Given the description of an element on the screen output the (x, y) to click on. 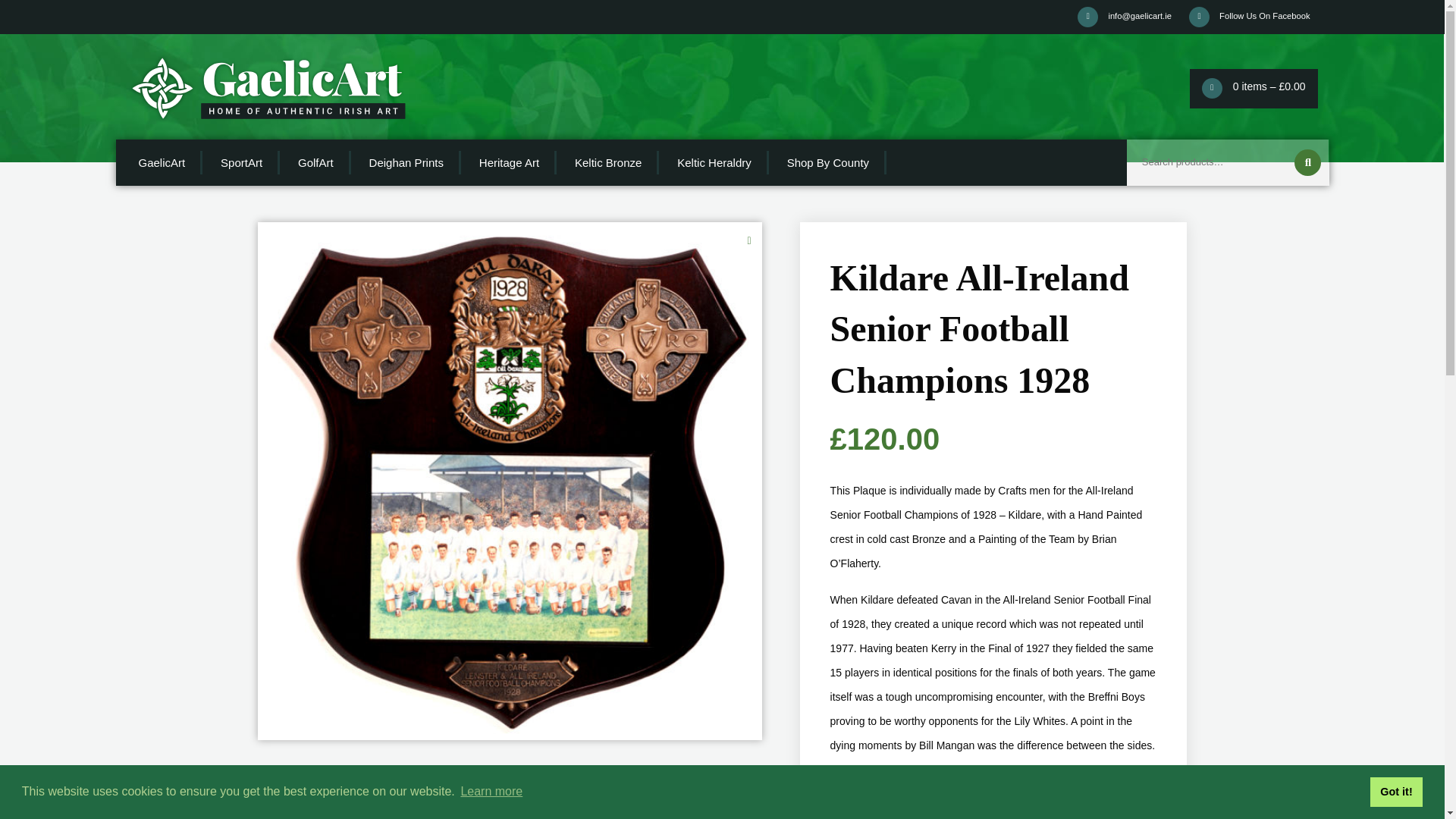
Got it! (1396, 791)
GaelicArt (162, 162)
Learn more (491, 791)
Follow Us On Facebook (1248, 16)
SportArt (242, 162)
